Given the description of an element on the screen output the (x, y) to click on. 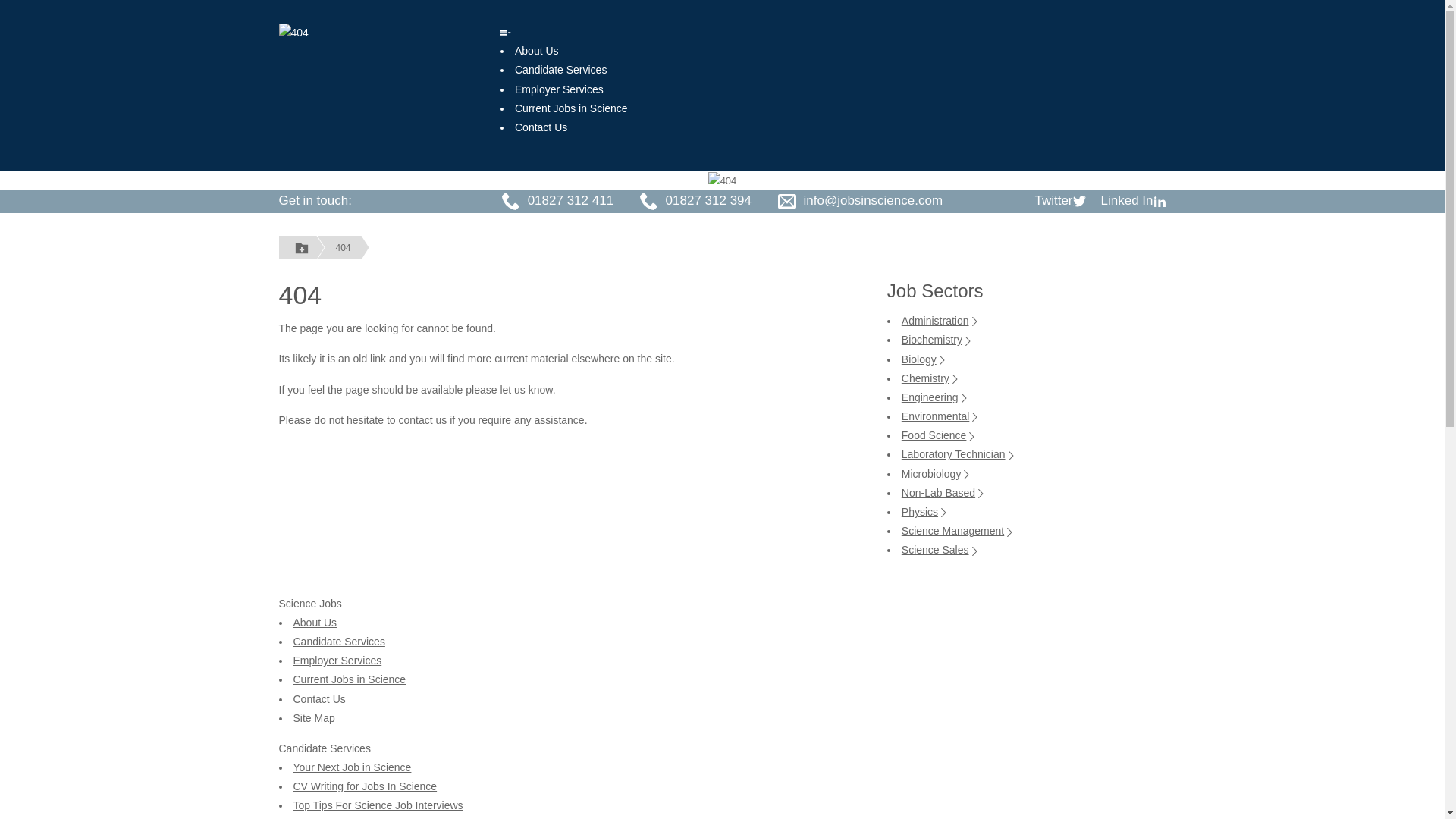
Science Sales (940, 549)
Candidate Services (561, 69)
Chemistry (930, 378)
Biochemistry (936, 339)
01827 312 411 (569, 200)
Biology (924, 358)
Environmental (940, 416)
Contact Us (541, 127)
Candidate Services (338, 641)
Linked In (1133, 200)
404 (293, 31)
Site Map (313, 717)
Physics (925, 511)
Non-Lab Based (943, 492)
Employer Services (336, 660)
